Given the description of an element on the screen output the (x, y) to click on. 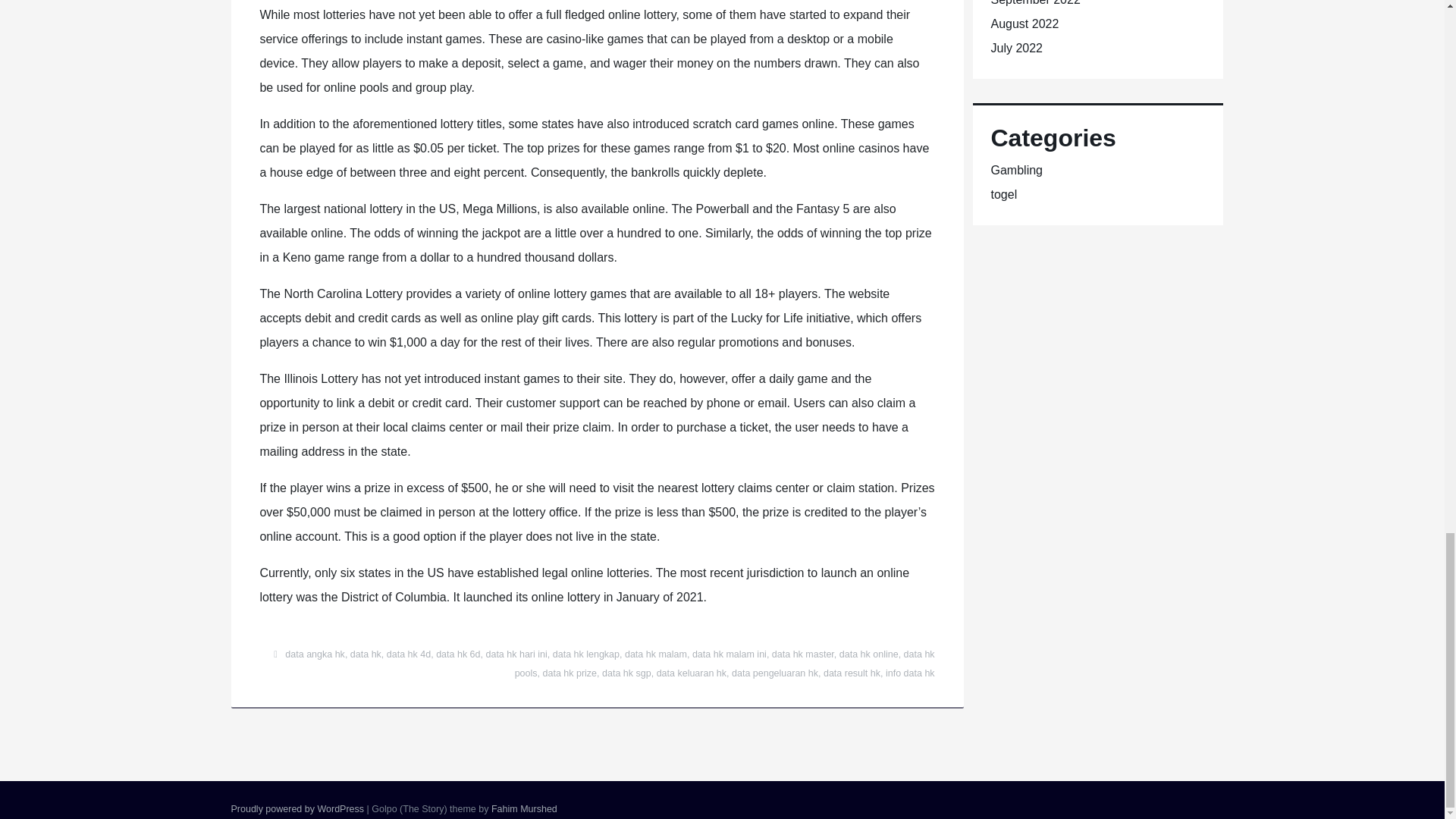
data hk 6d (457, 654)
data hk malam (655, 654)
data hk lengkap (586, 654)
data hk 4d (408, 654)
data hk master (802, 654)
data hk (365, 654)
data angka hk (315, 654)
data hk malam ini (730, 654)
data hk hari ini (515, 654)
data hk online (869, 654)
